Given the description of an element on the screen output the (x, y) to click on. 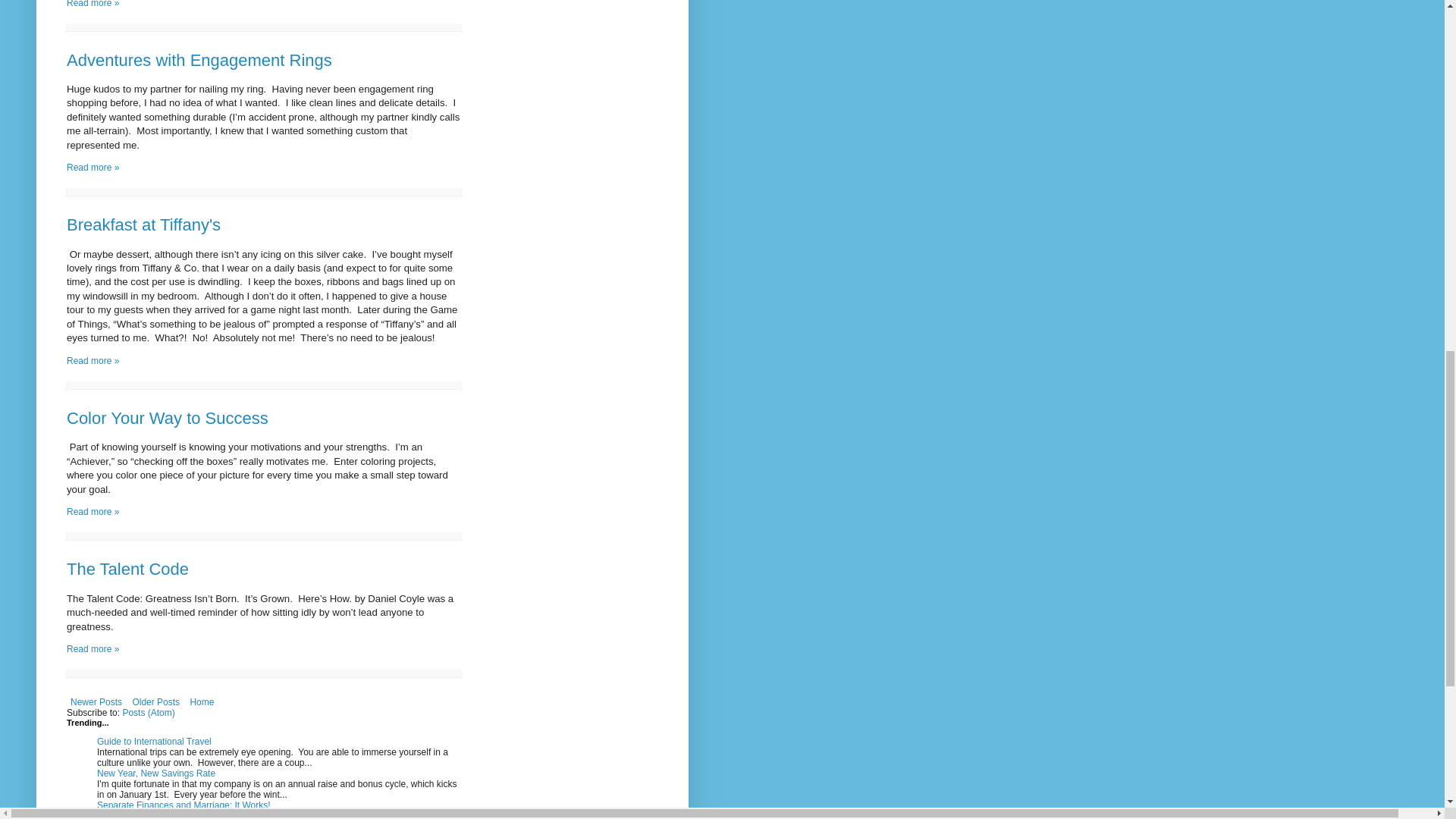
Older Posts (155, 701)
Older Posts (155, 701)
The Talent Code (92, 648)
Breakfast at Tiffany's (92, 360)
Breakfast at Tiffany's (143, 224)
Home (201, 701)
Guide to International Travel (154, 741)
The Talent Code (127, 568)
Adventures with Engagement Rings (198, 59)
New Year, New Savings Rate (156, 773)
